Given the description of an element on the screen output the (x, y) to click on. 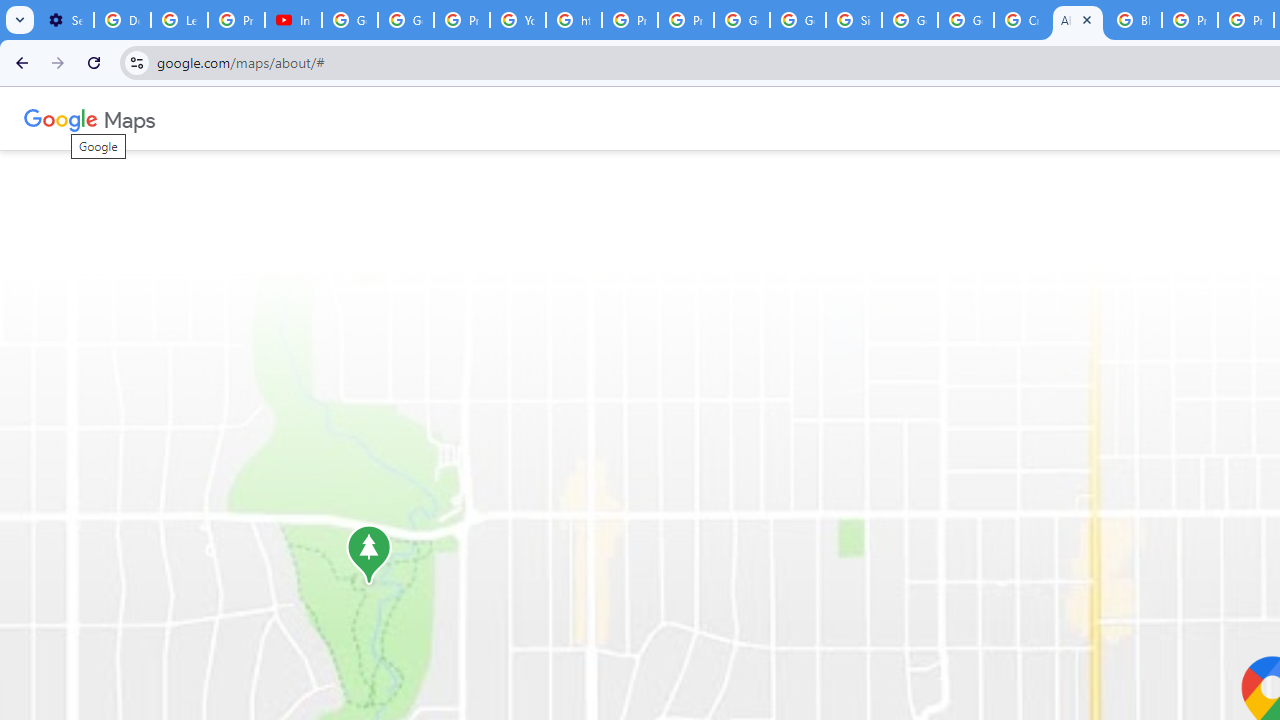
YouTube (518, 20)
